Given the description of an element on the screen output the (x, y) to click on. 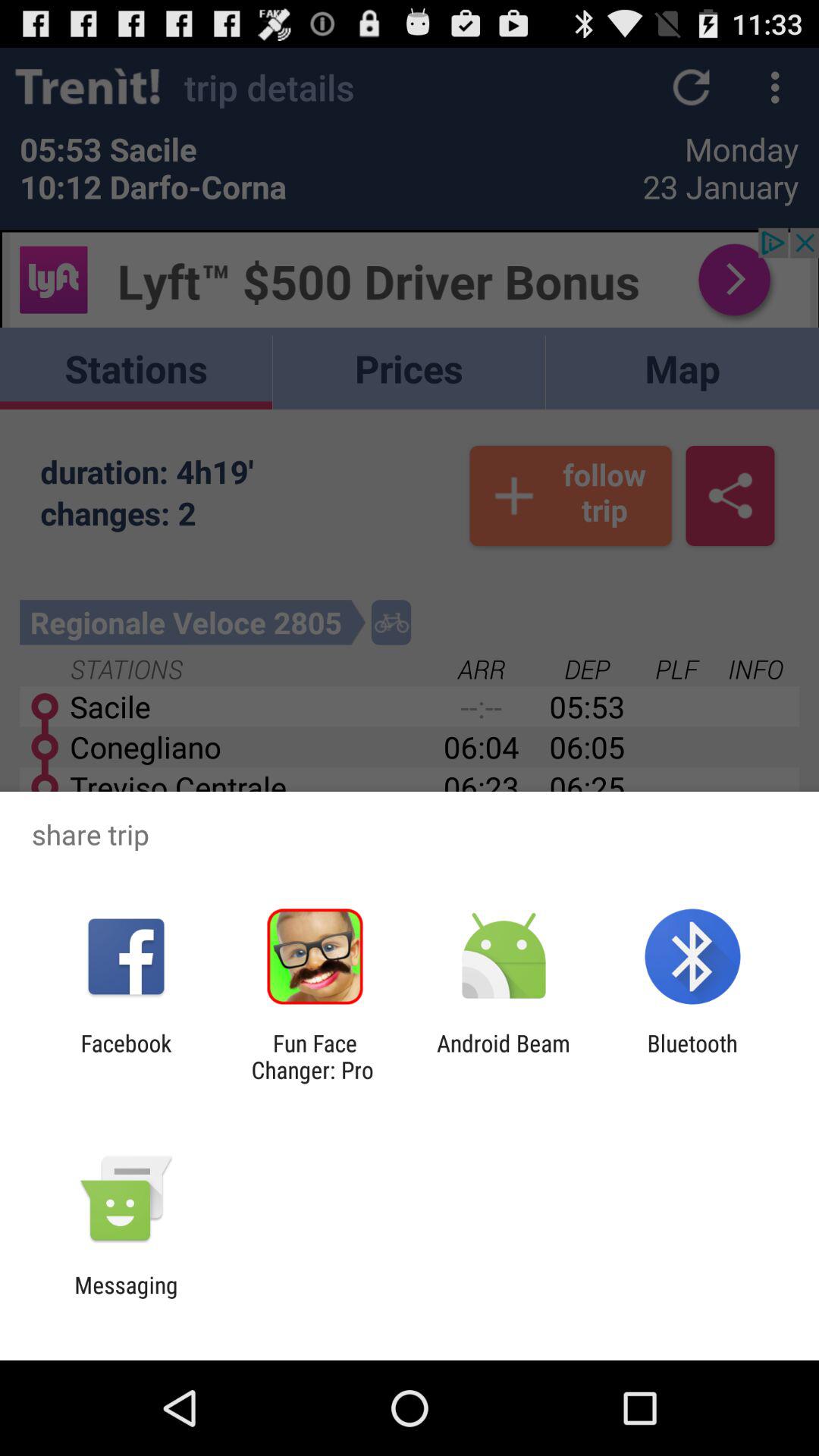
choose icon to the left of android beam (314, 1056)
